Given the description of an element on the screen output the (x, y) to click on. 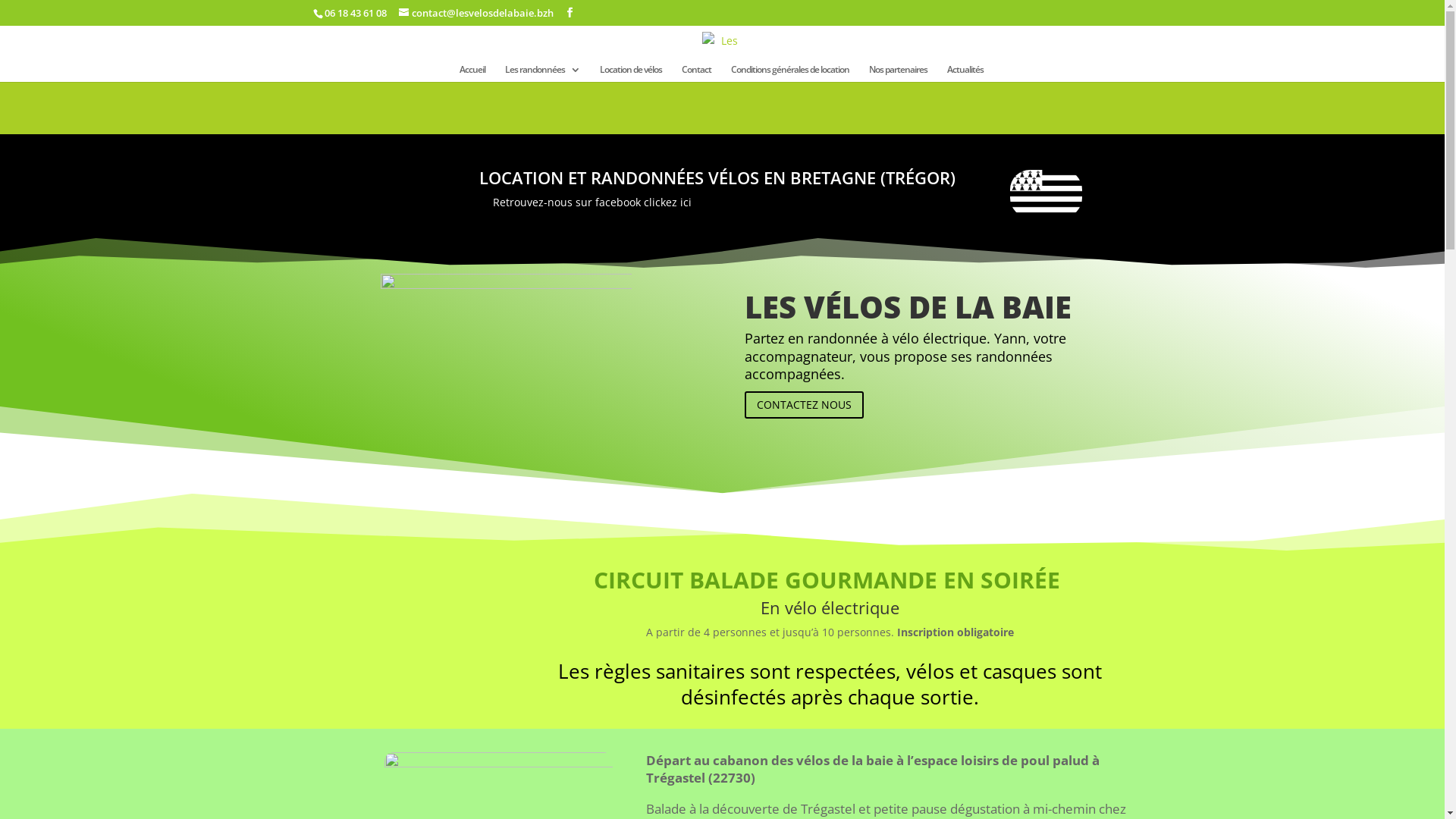
CONTACTEZ NOUS Element type: text (803, 404)
Nos partenaires Element type: text (898, 72)
contact@lesvelosdelabaie.bzh Element type: text (475, 12)
Contact Element type: text (696, 72)
logo-blanc Element type: hover (506, 352)
Retrouvez-nous sur facebook clickez ici Element type: text (591, 201)
Accueil Element type: text (472, 72)
